Given the description of an element on the screen output the (x, y) to click on. 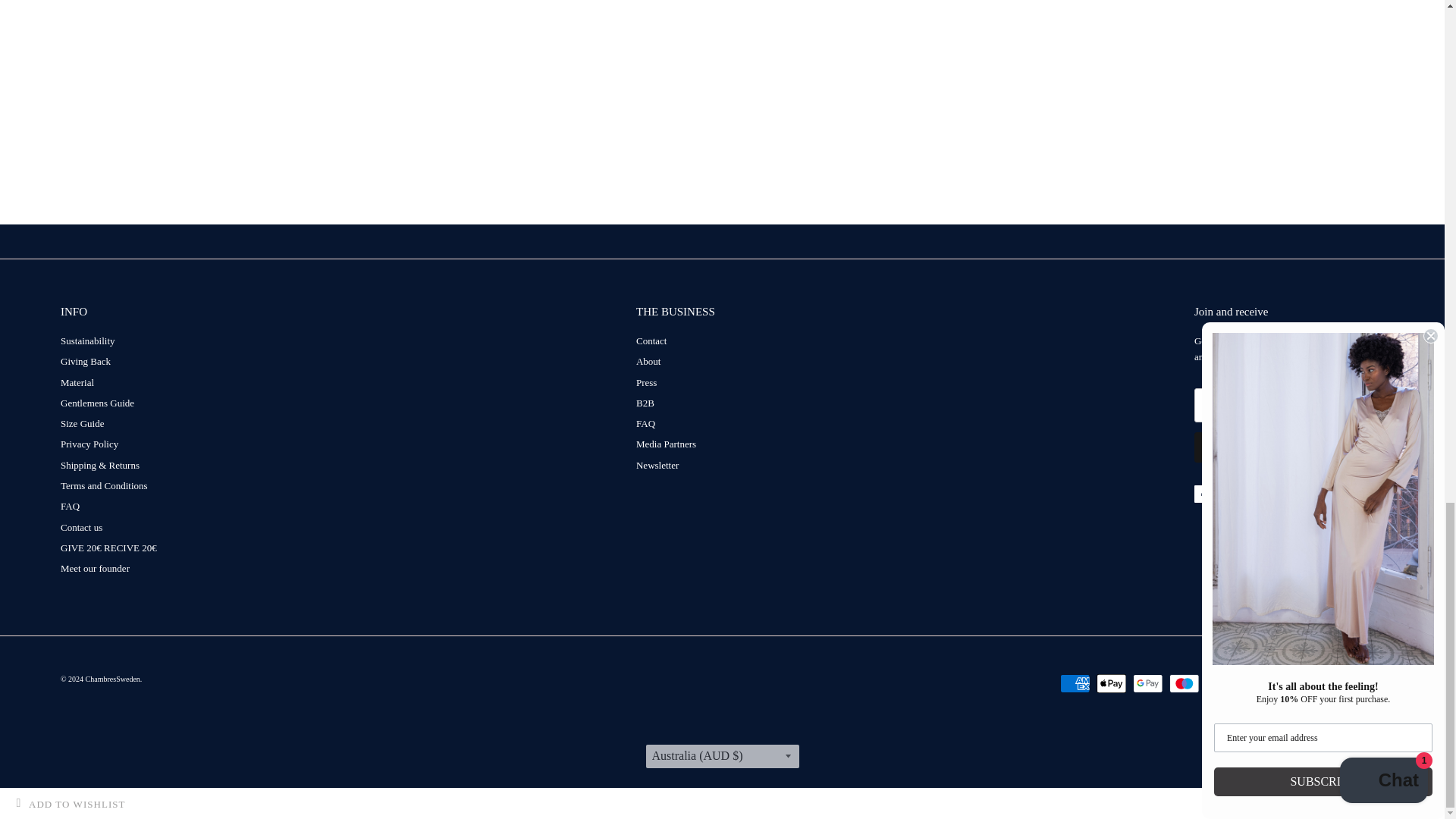
Facebook (1202, 493)
Maestro (1184, 683)
Apple Pay (1111, 683)
American Express (1074, 683)
Youtube (1230, 493)
Instagram (1257, 493)
Mastercard (1220, 683)
Shop Pay (1293, 683)
Pinterest (1285, 493)
Google Pay (1147, 683)
PayPal (1256, 683)
